Given the description of an element on the screen output the (x, y) to click on. 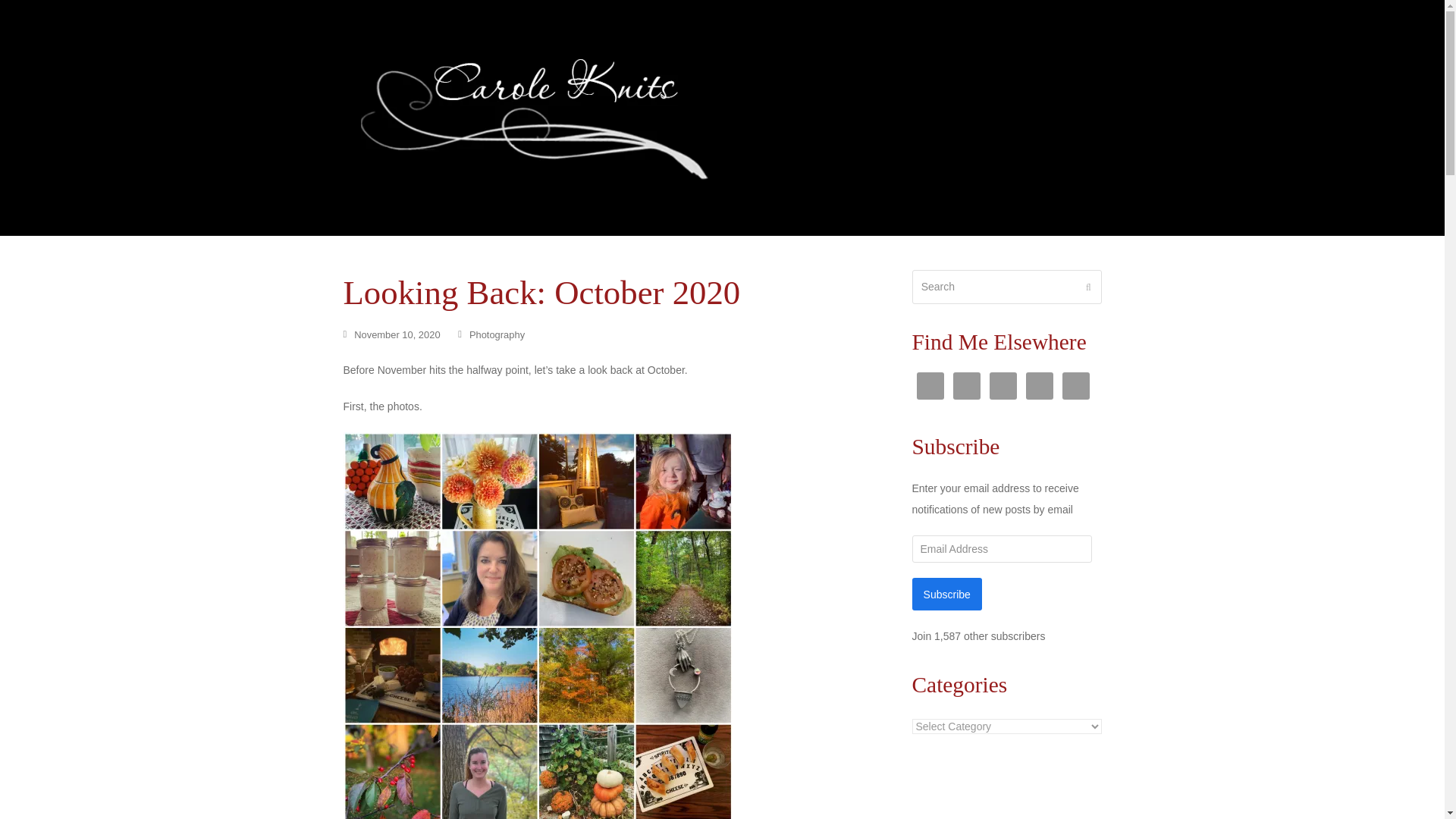
Subscribe (946, 594)
Photography (496, 334)
